Given the description of an element on the screen output the (x, y) to click on. 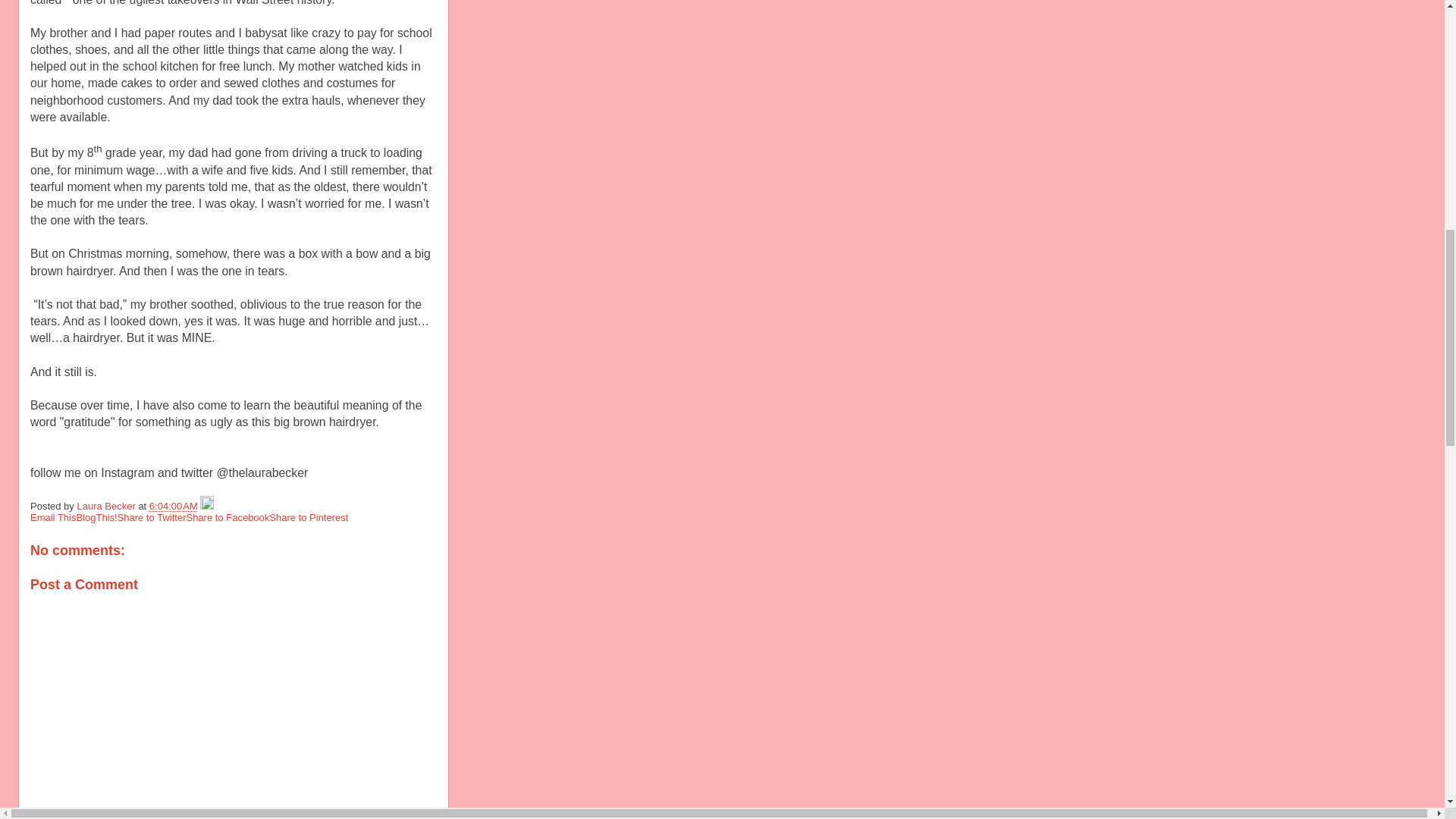
Share to Pinterest (308, 517)
BlogThis! (95, 517)
Share to Facebook (227, 517)
Share to Pinterest (308, 517)
Share to Twitter (151, 517)
Edit Post (207, 505)
permanent link (173, 505)
author profile (107, 505)
Email This (52, 517)
Share to Twitter (151, 517)
Share to Facebook (227, 517)
Laura Becker (107, 505)
Email This (52, 517)
BlogThis! (95, 517)
